Given the description of an element on the screen output the (x, y) to click on. 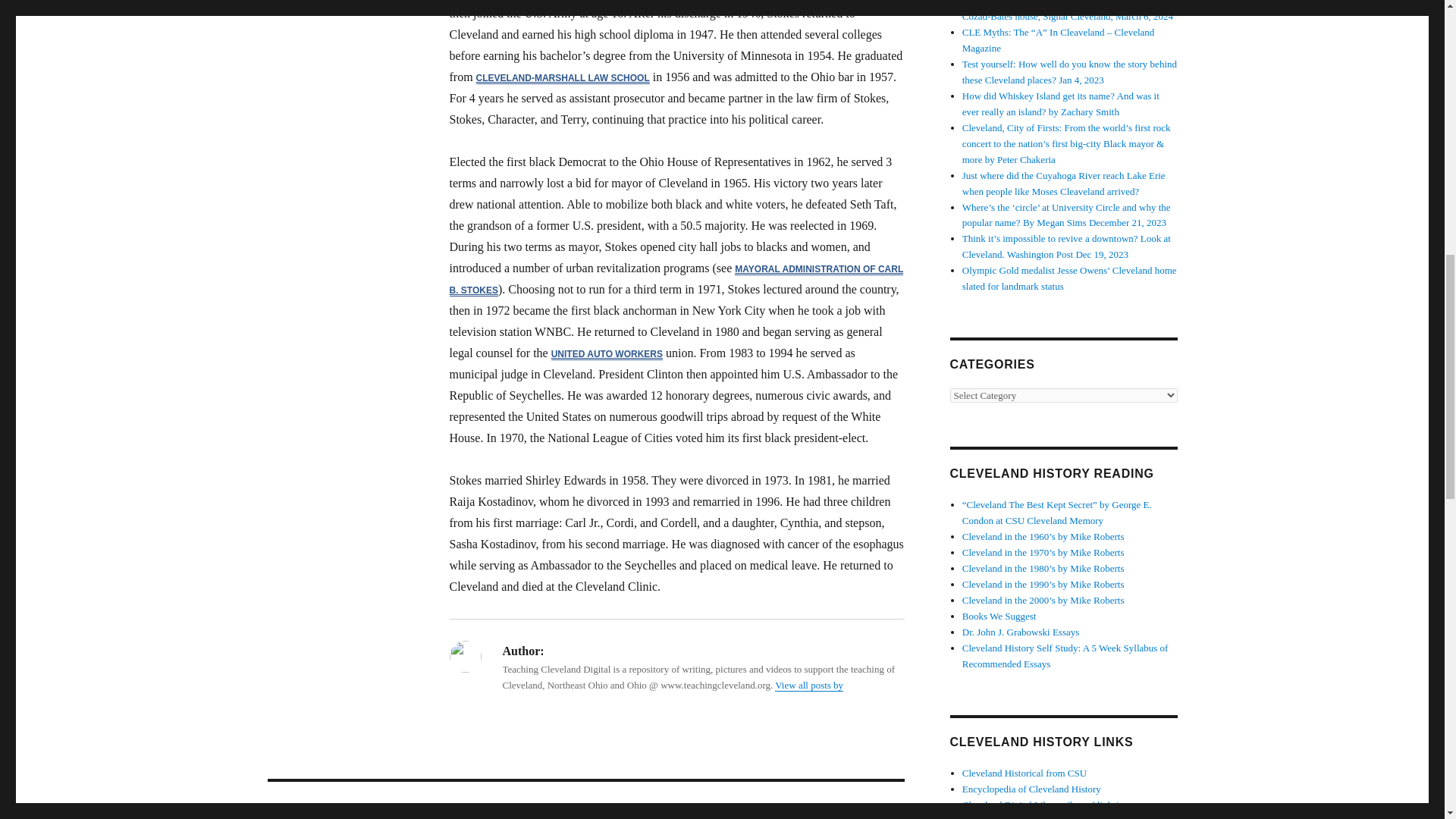
Cleveland Historical from CSU (1024, 772)
UNITED AUTO WORKERS (606, 353)
Books We Suggest (999, 615)
MAYORAL ADMINISTRATION OF CARL B. STOKES (675, 279)
View all posts by (808, 685)
Encyclopedia of Cleveland History (1031, 788)
CLEVELAND-MARSHALL LAW SCHOOL (562, 77)
Dr. John J. Grabowski Essays (1021, 632)
